Given the description of an element on the screen output the (x, y) to click on. 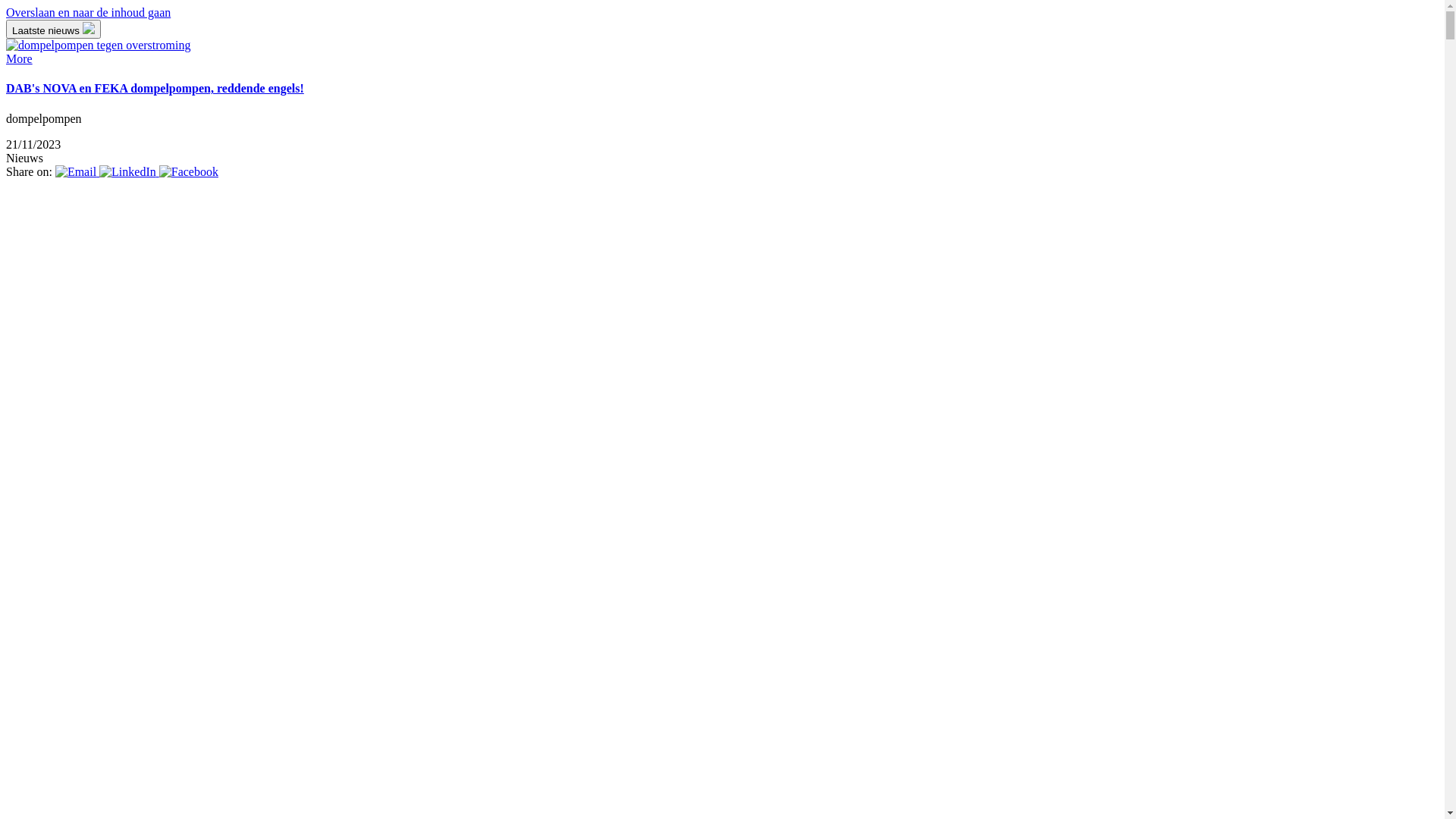
DAB's NOVA en FEKA dompelpompen, reddende engels! Element type: text (722, 88)
Overslaan en naar de inhoud gaan Element type: text (88, 12)
More Element type: text (722, 51)
Laatste nieuws Element type: text (53, 28)
